Given the description of an element on the screen output the (x, y) to click on. 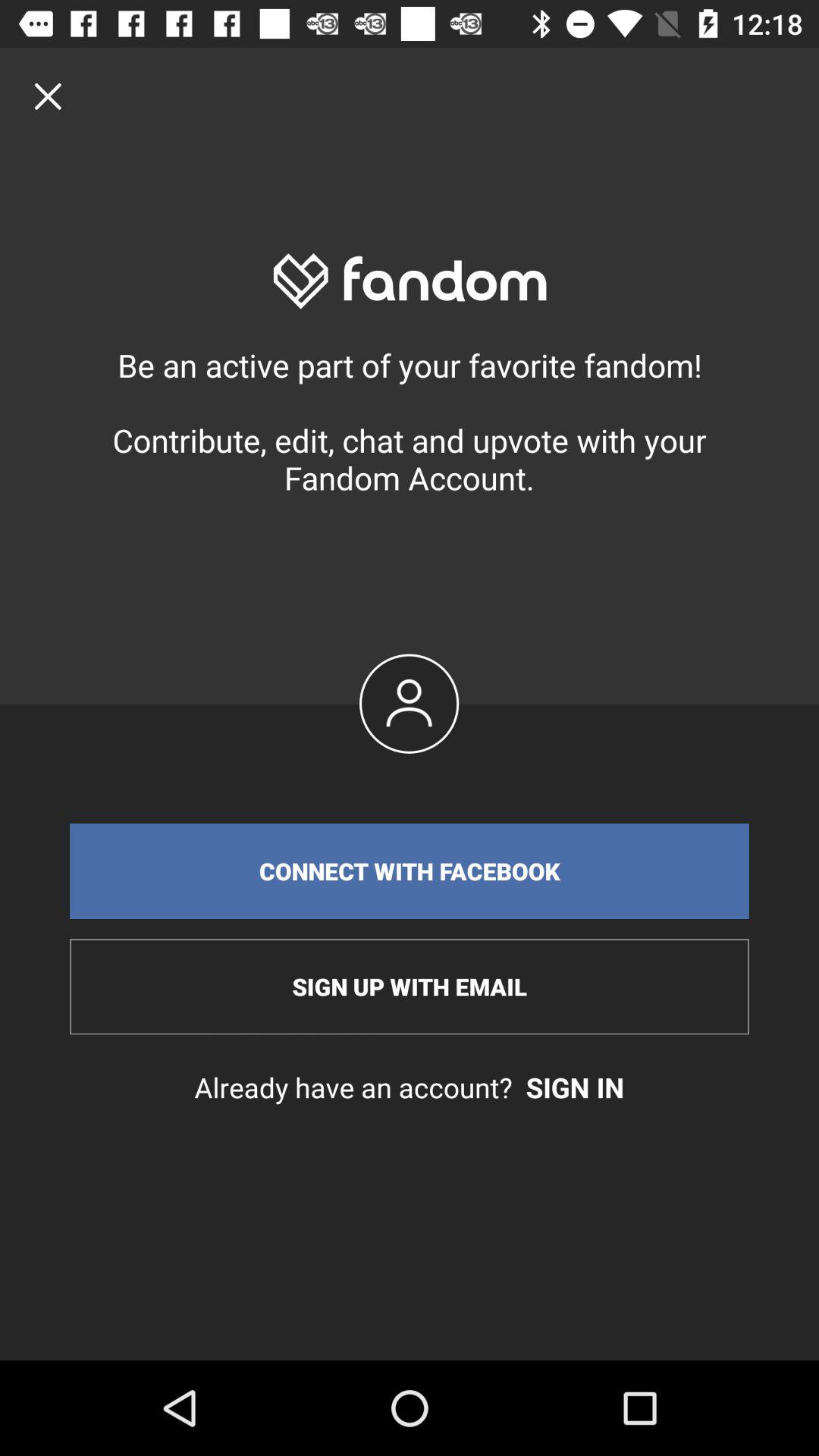
close out the application (47, 95)
